Given the description of an element on the screen output the (x, y) to click on. 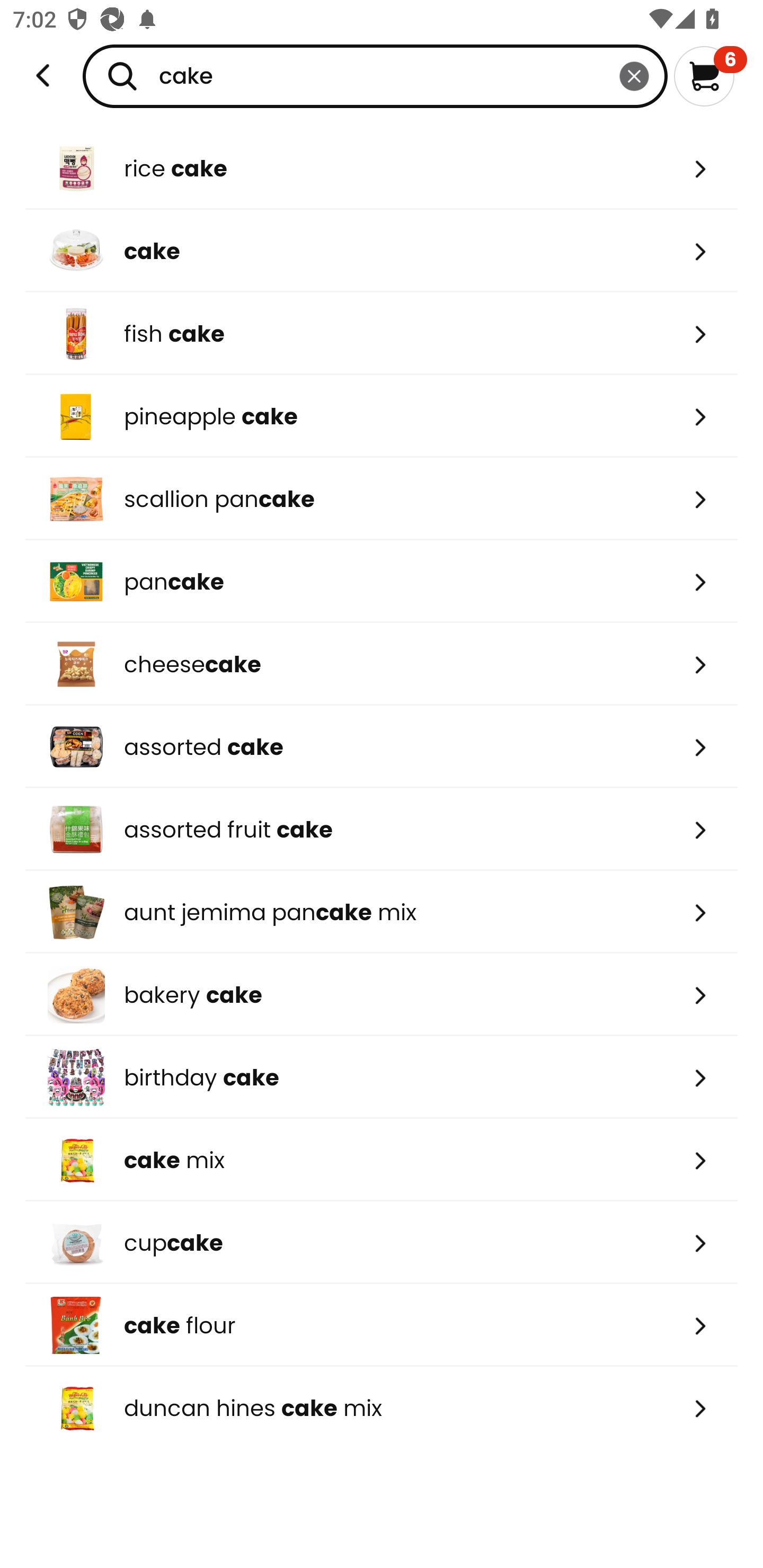
cake (374, 75)
6 (709, 75)
Weee! (42, 76)
rice cake (381, 168)
cake (381, 250)
fish cake (381, 332)
pineapple cake (381, 415)
scallion pancake (381, 498)
pancake (381, 581)
cheesecake (381, 663)
assorted cake (381, 746)
assorted fruit cake (381, 829)
aunt jemima pancake mix (381, 911)
bakery cake (381, 994)
birthday cake (381, 1077)
cake mix (381, 1160)
cupcake (381, 1242)
cake flour (381, 1325)
duncan hines cake mix (381, 1407)
